Given the description of an element on the screen output the (x, y) to click on. 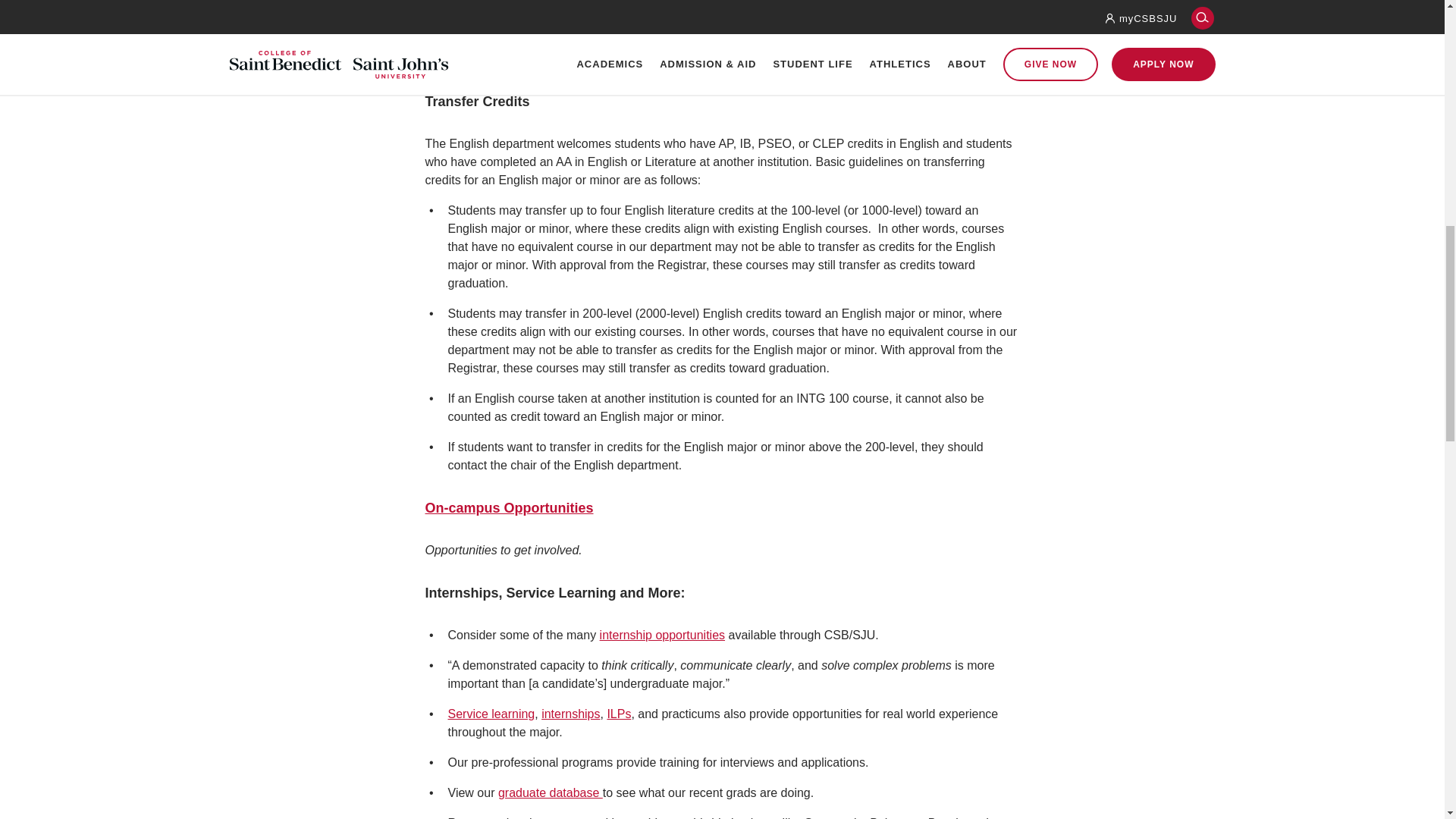
Faculty (448, 16)
On-campus Opportunities (508, 507)
